Given the description of an element on the screen output the (x, y) to click on. 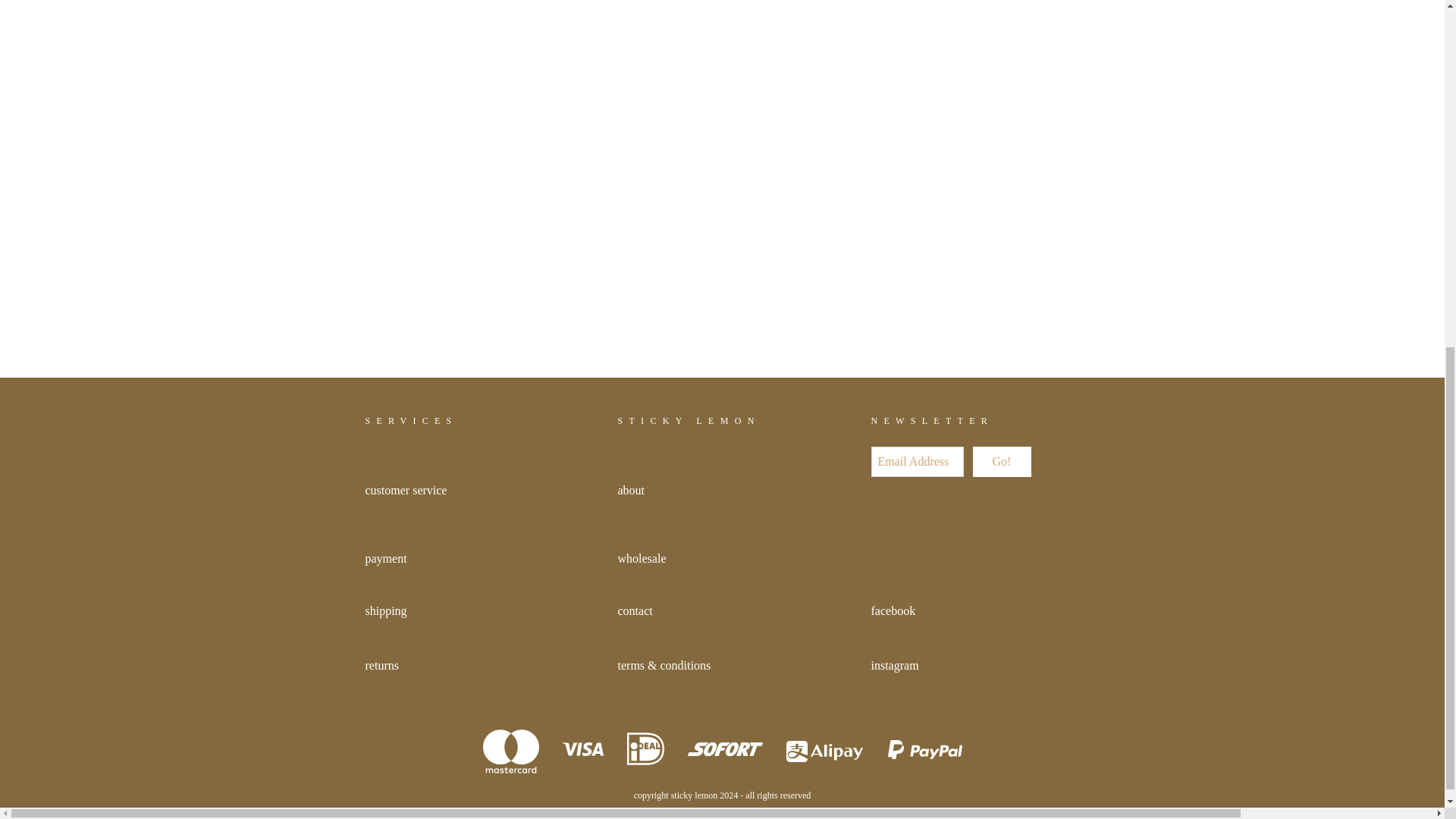
Go! (1001, 461)
facebook (892, 610)
returns (381, 665)
shipping (386, 610)
contact (634, 610)
payment (386, 558)
customer service (405, 490)
instagram (894, 665)
NEWSLETTER (931, 420)
about (631, 490)
